Given the description of an element on the screen output the (x, y) to click on. 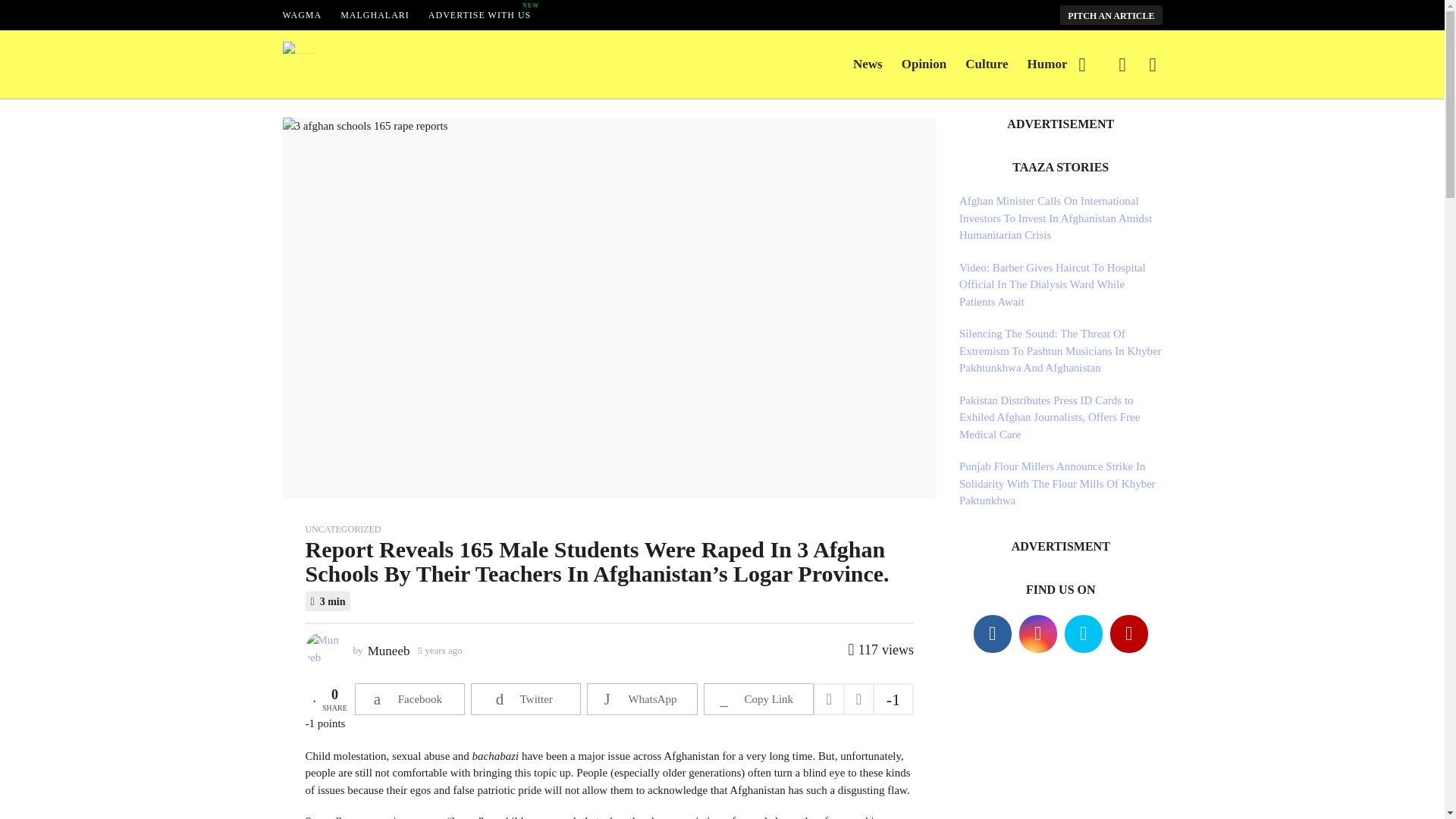
MALGHALARI (374, 15)
Share on Twitter (525, 698)
News (867, 64)
Culture (479, 15)
Opinion (986, 64)
WAGMA (924, 64)
Share on Facebook (301, 15)
Humor (409, 698)
PITCH AN ARTICLE (1047, 64)
